Given the description of an element on the screen output the (x, y) to click on. 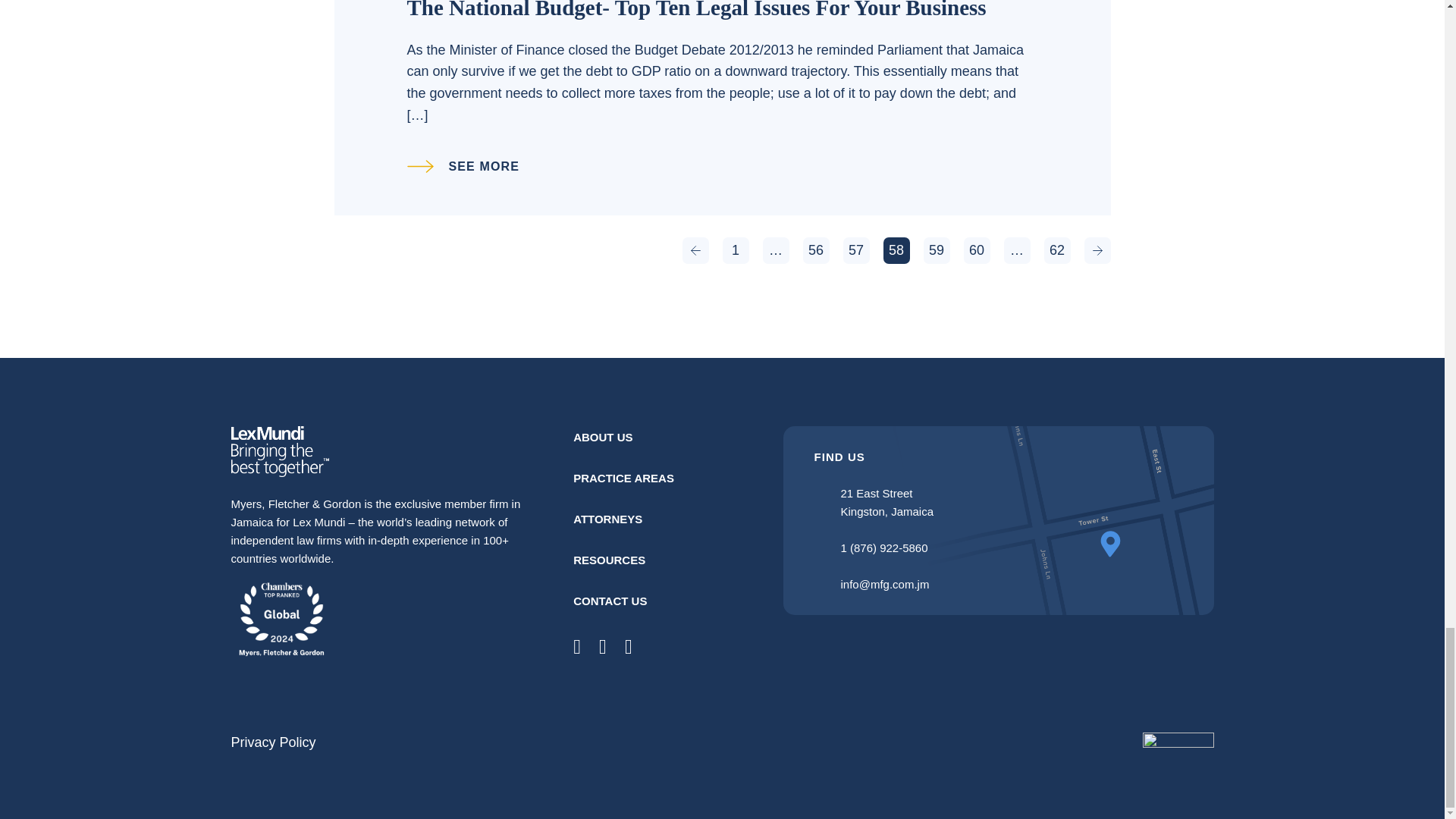
PRACTICE AREAS (623, 477)
ABOUT US (602, 436)
60 (976, 250)
56 (815, 250)
62 (1056, 250)
57 (856, 250)
ATTORNEYS (607, 518)
RESOURCES (609, 559)
1 (735, 250)
59 (936, 250)
